Given the description of an element on the screen output the (x, y) to click on. 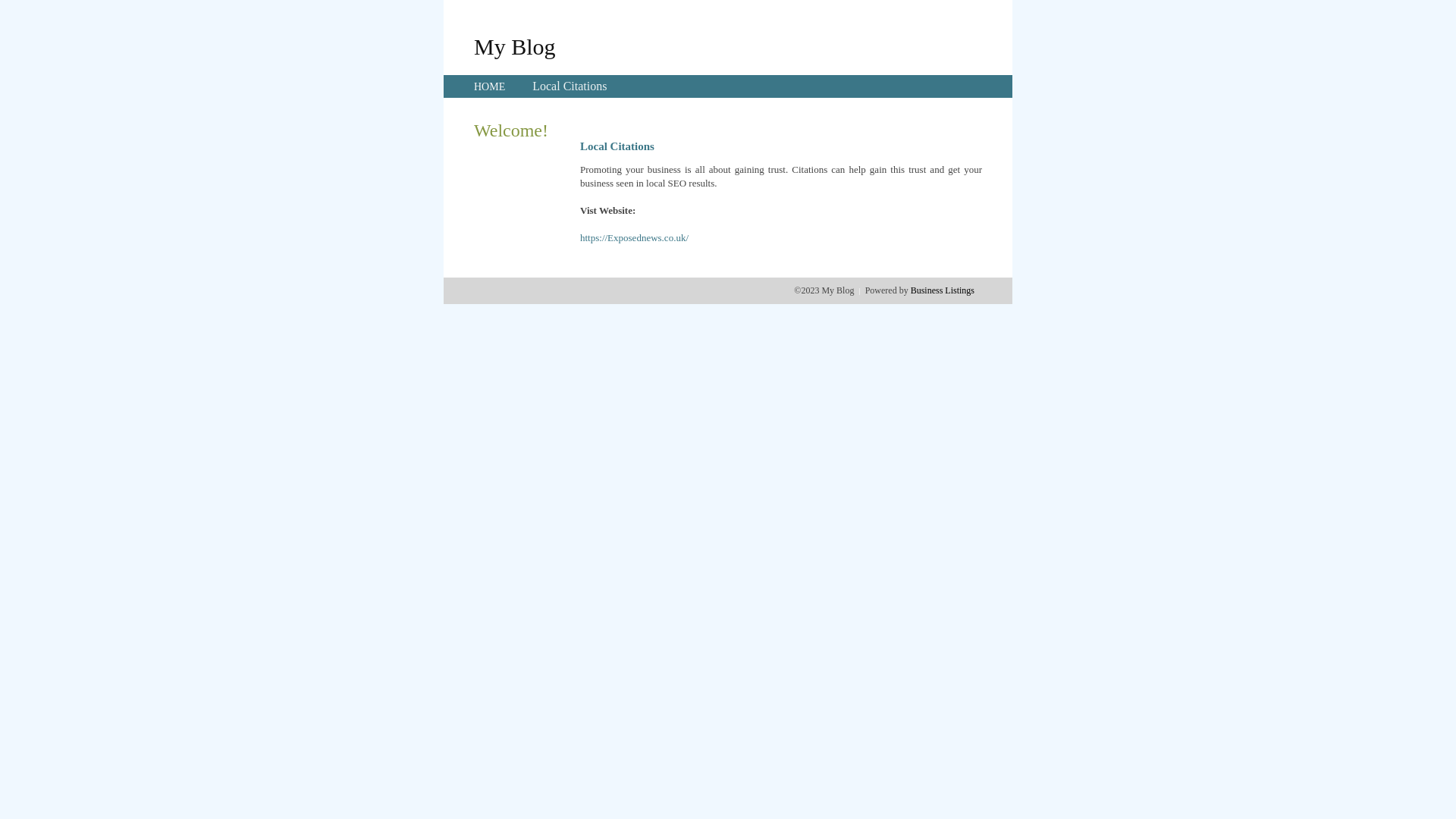
Local Citations Element type: text (569, 85)
Business Listings Element type: text (942, 290)
HOME Element type: text (489, 86)
https://Exposednews.co.uk/ Element type: text (634, 237)
My Blog Element type: text (514, 46)
